Given the description of an element on the screen output the (x, y) to click on. 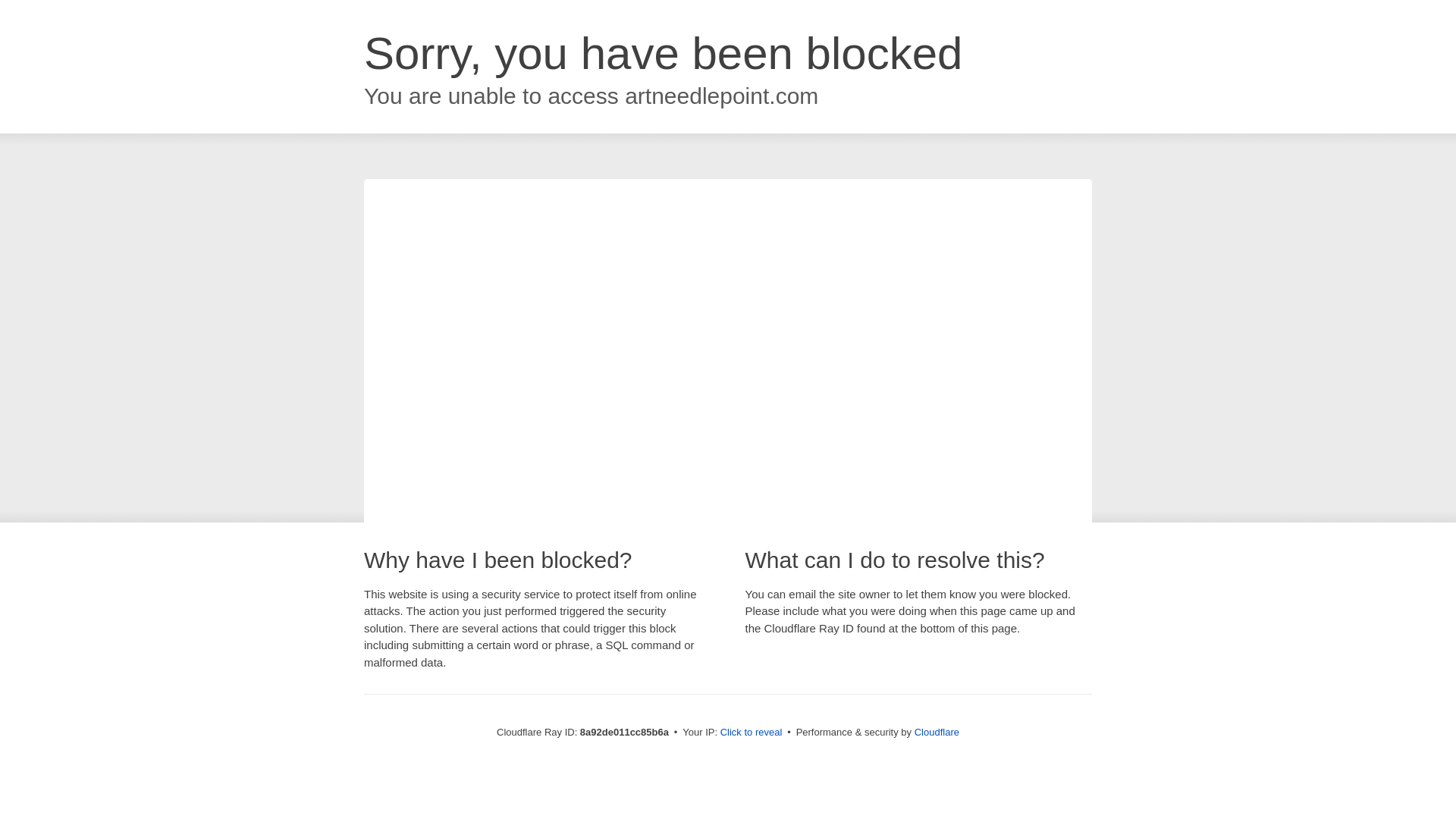
Cloudflare (936, 731)
Click to reveal (751, 732)
